Given the description of an element on the screen output the (x, y) to click on. 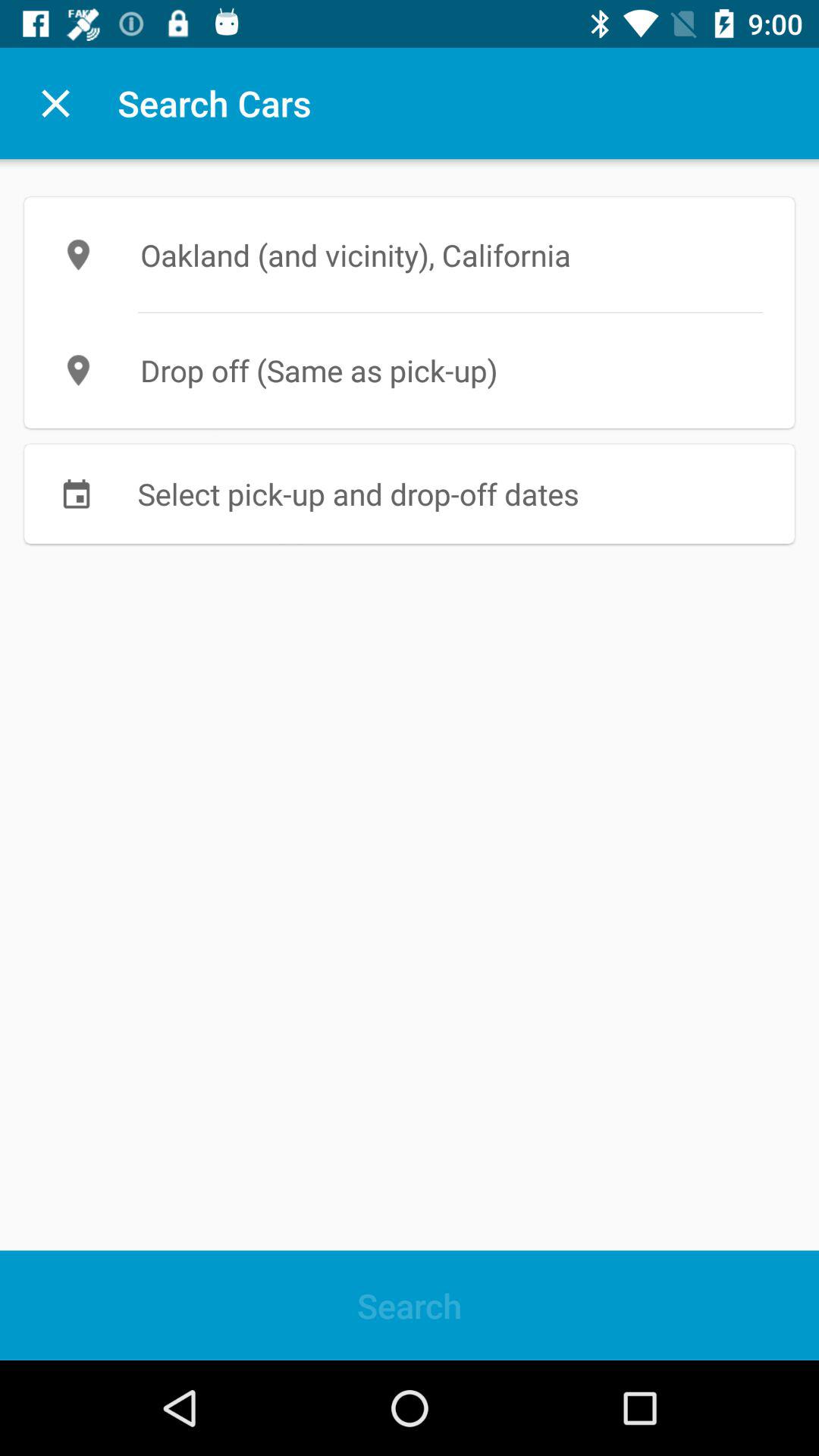
choose the icon above drop off same icon (409, 254)
